Given the description of an element on the screen output the (x, y) to click on. 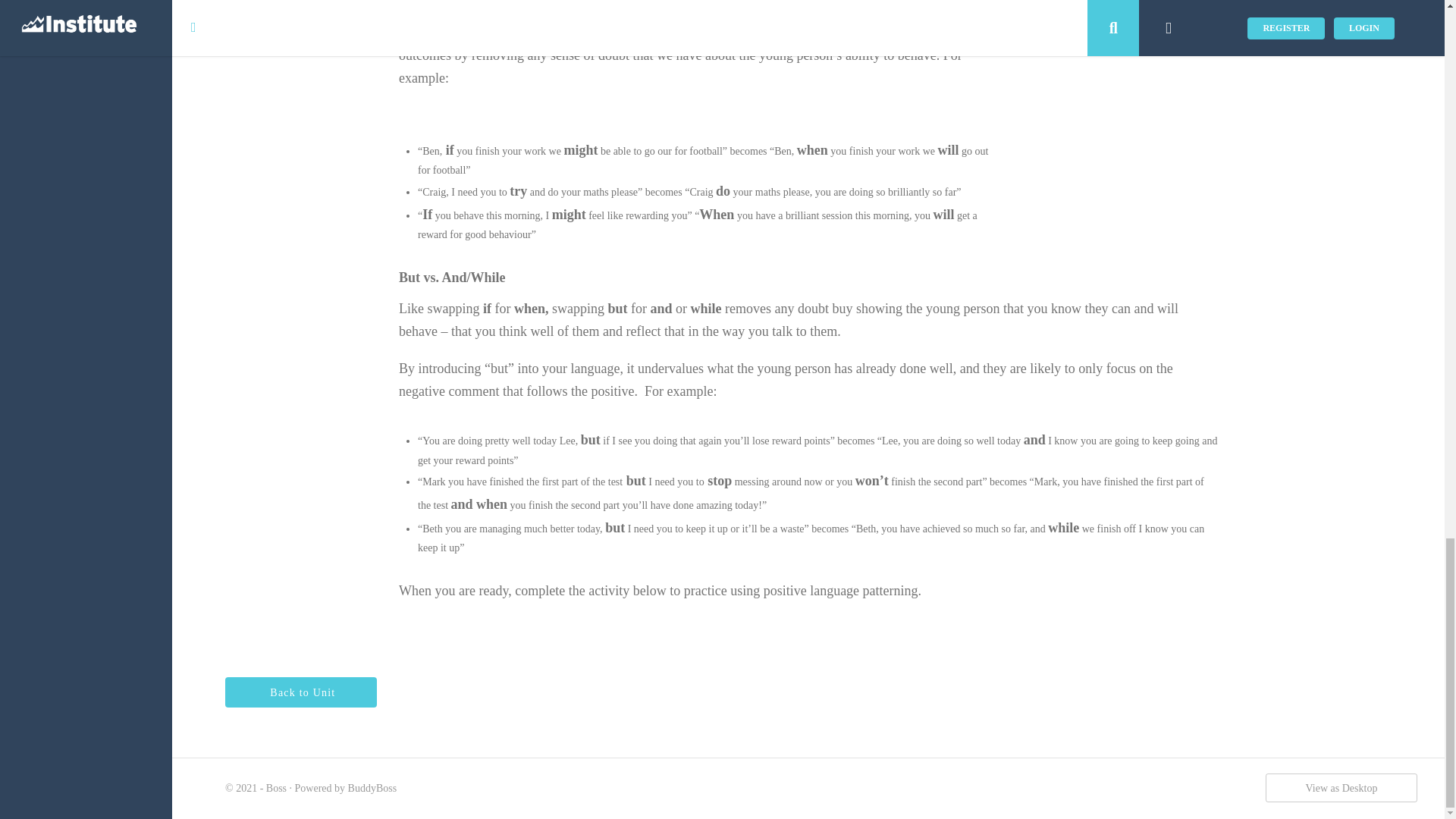
BuddyPress themes (372, 787)
View as Desktop (1340, 787)
Back to Unit (301, 692)
BuddyBoss (372, 787)
View as Desktop (1340, 787)
